Given the description of an element on the screen output the (x, y) to click on. 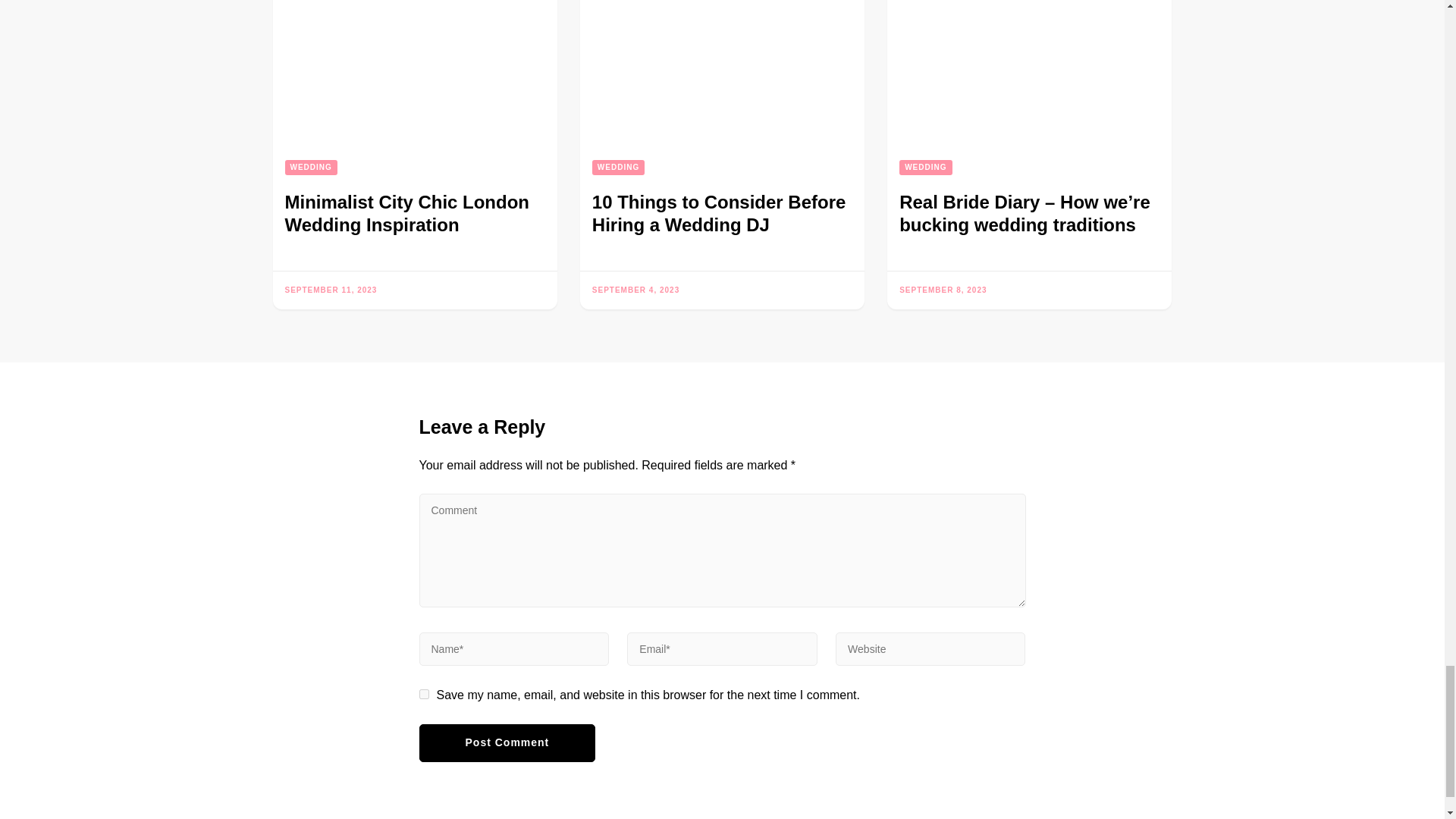
Post Comment (507, 742)
Minimalist City Chic London Wedding Inspiration (407, 213)
WEDDING (311, 167)
yes (423, 694)
SEPTEMBER 11, 2023 (331, 289)
